Given the description of an element on the screen output the (x, y) to click on. 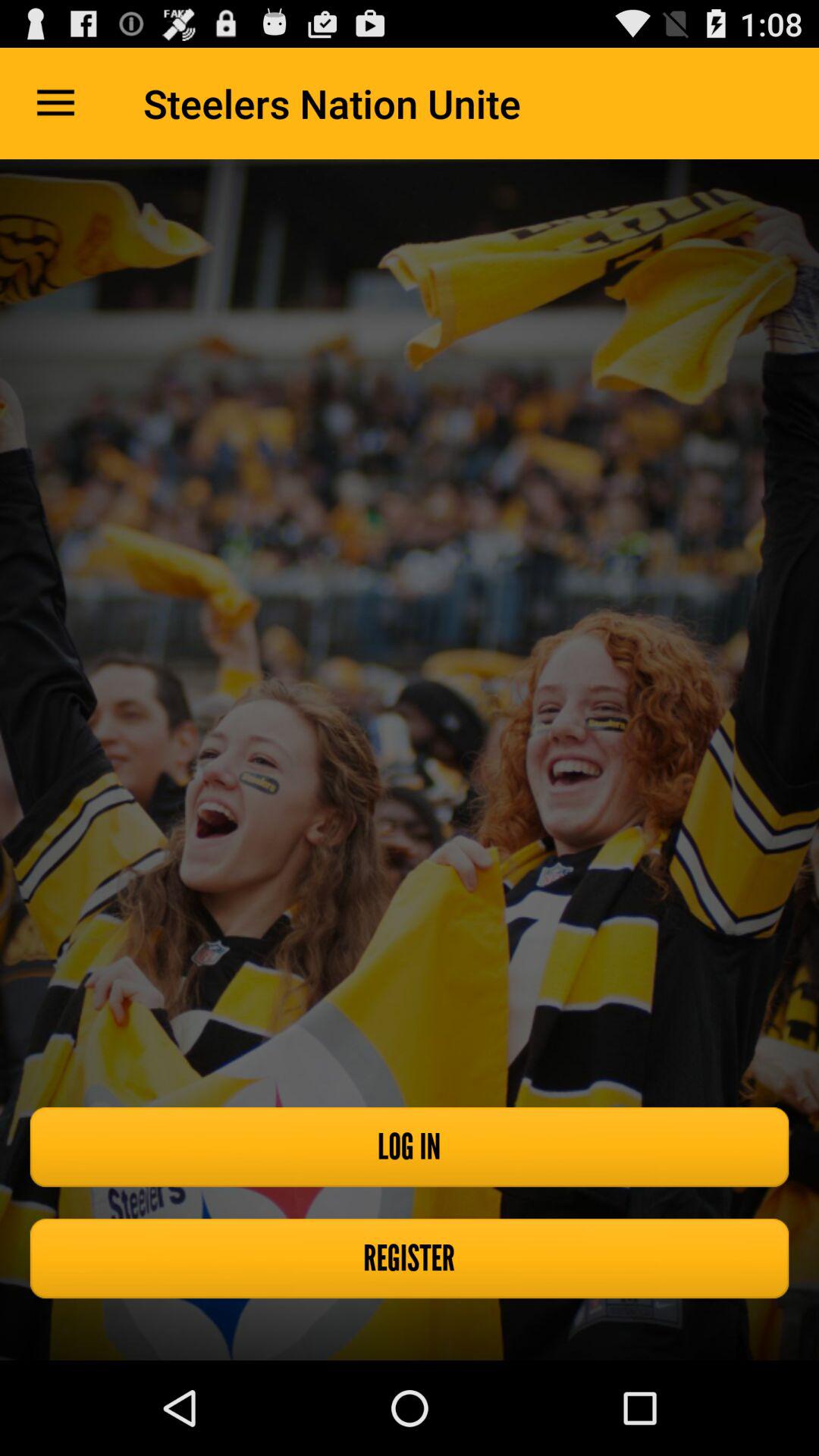
select icon at the top left corner (55, 103)
